Given the description of an element on the screen output the (x, y) to click on. 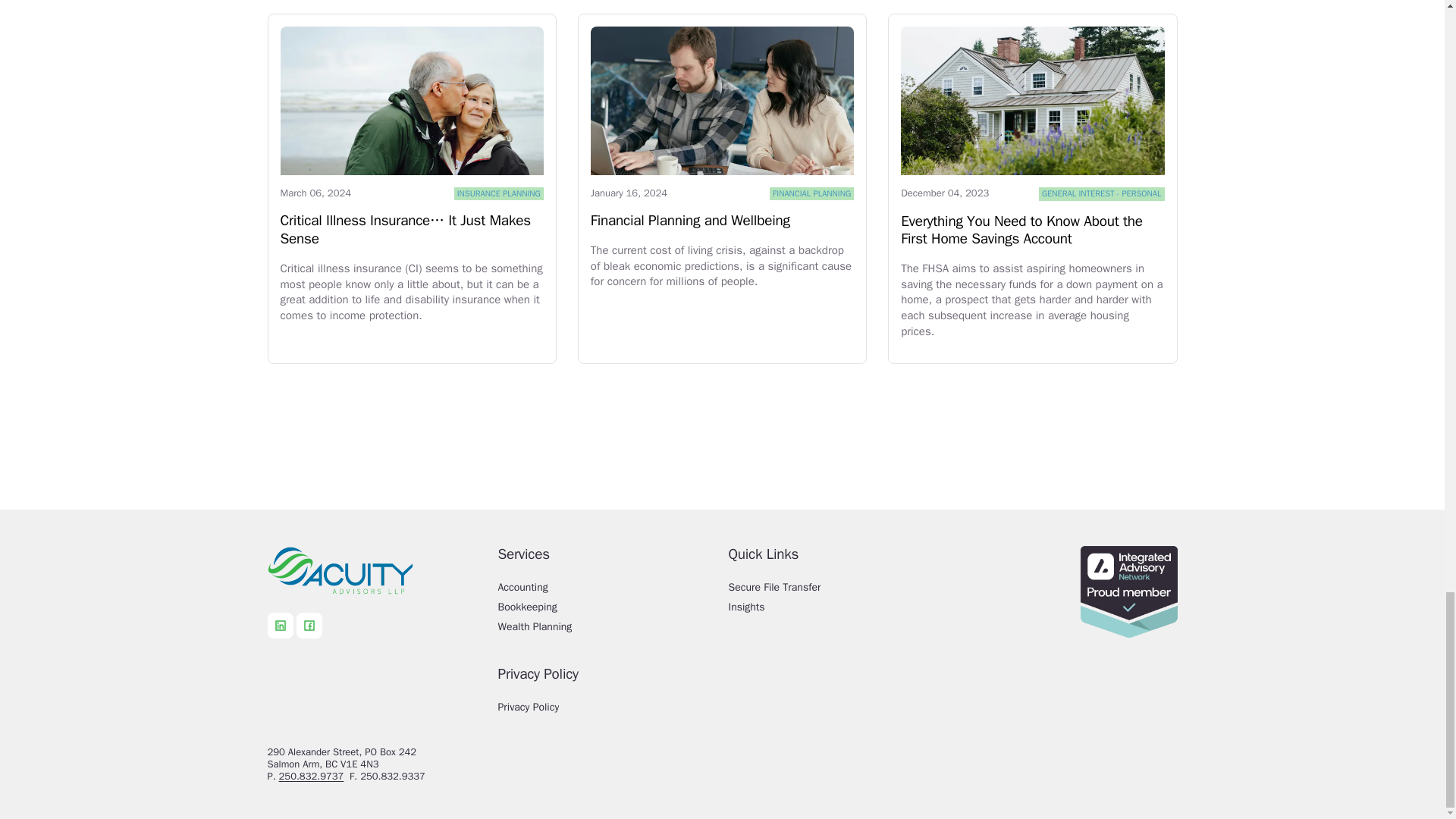
Accounting (606, 591)
Wealth Planning (606, 631)
Privacy Policy (606, 711)
Bookkeeping (606, 611)
250.832.9737 (311, 775)
Insights (837, 611)
Secure File Transfer (837, 591)
